Given the description of an element on the screen output the (x, y) to click on. 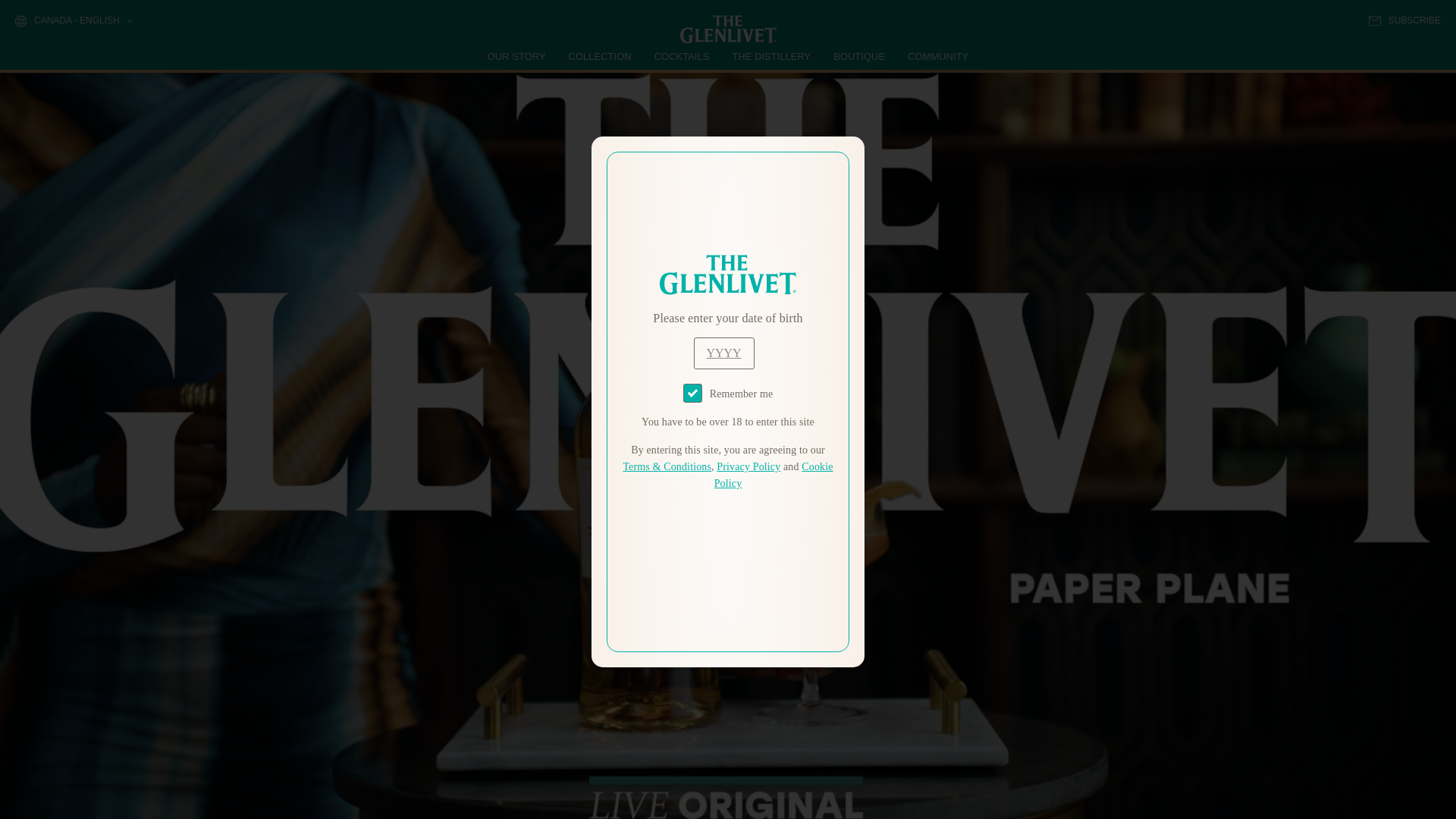
THE DISTILLERY (771, 56)
SUBSCRIBE (1404, 20)
year (723, 353)
COMMUNITY (937, 56)
OUR STORY (516, 56)
Privacy Policy (748, 466)
COLLECTION (600, 56)
BOUTIQUE (858, 56)
CANADA - ENGLISH (73, 21)
Cookie Policy (773, 474)
